Given the description of an element on the screen output the (x, y) to click on. 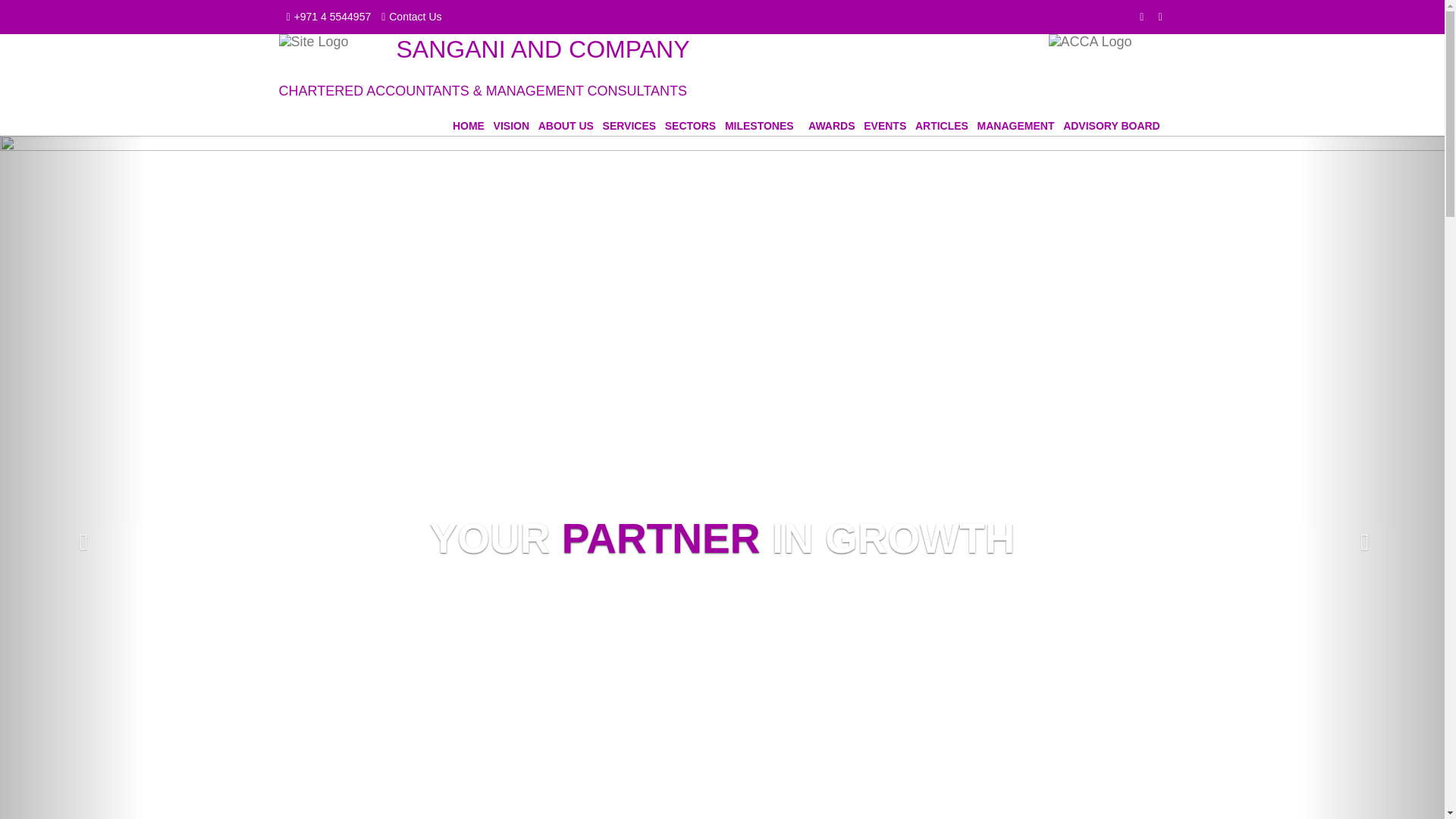
HOME (468, 125)
VISION (511, 125)
EVENTS (884, 125)
MILESTONES (759, 125)
Contact Us (407, 16)
MANAGEMENT (1015, 125)
SECTORS (690, 125)
AWARDS (831, 125)
ARTICLES (941, 125)
ABOUT US (566, 125)
